Given the description of an element on the screen output the (x, y) to click on. 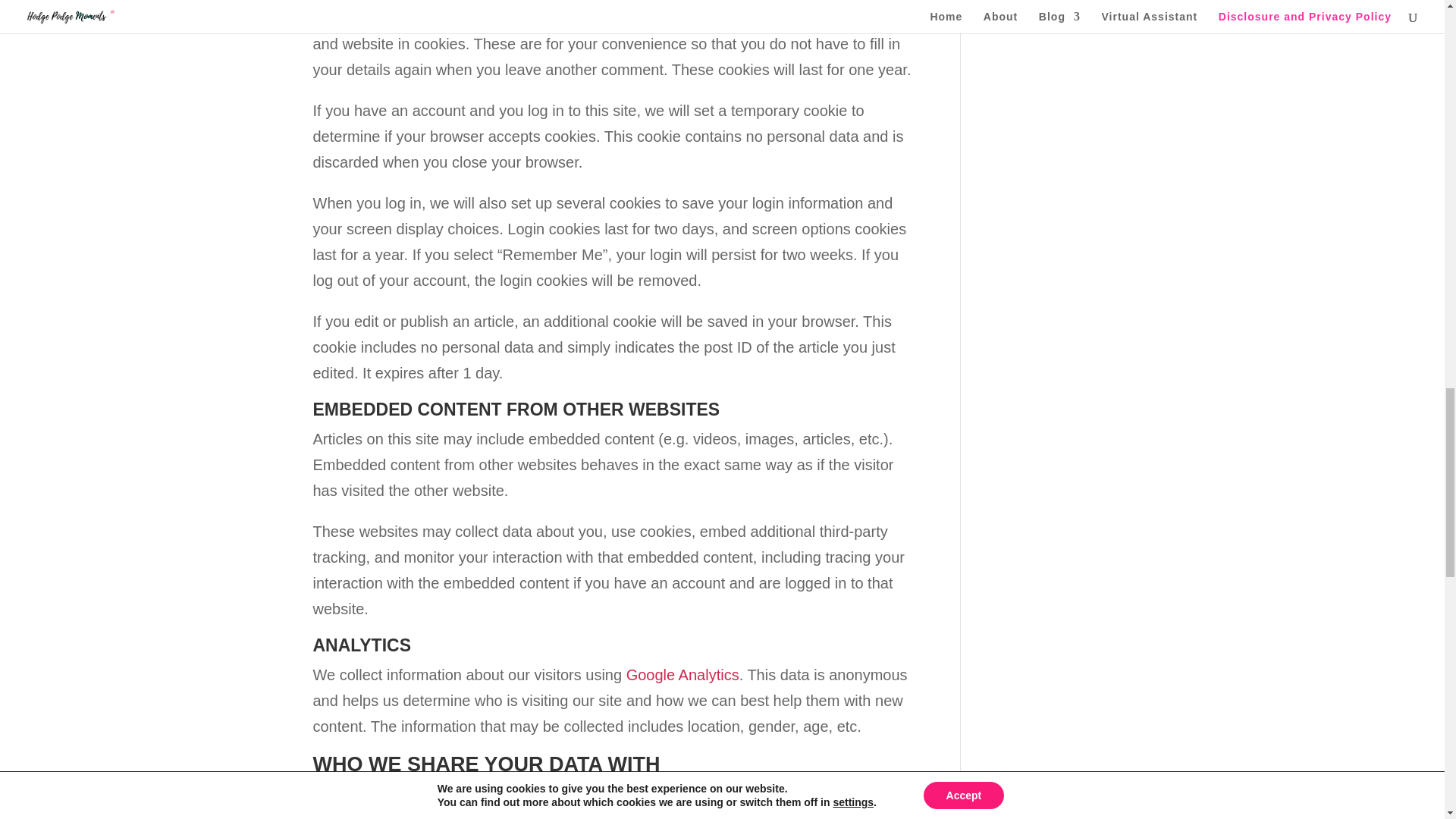
Google Analytics (682, 674)
Mailerlite (749, 795)
Thinkific (708, 816)
